Given the description of an element on the screen output the (x, y) to click on. 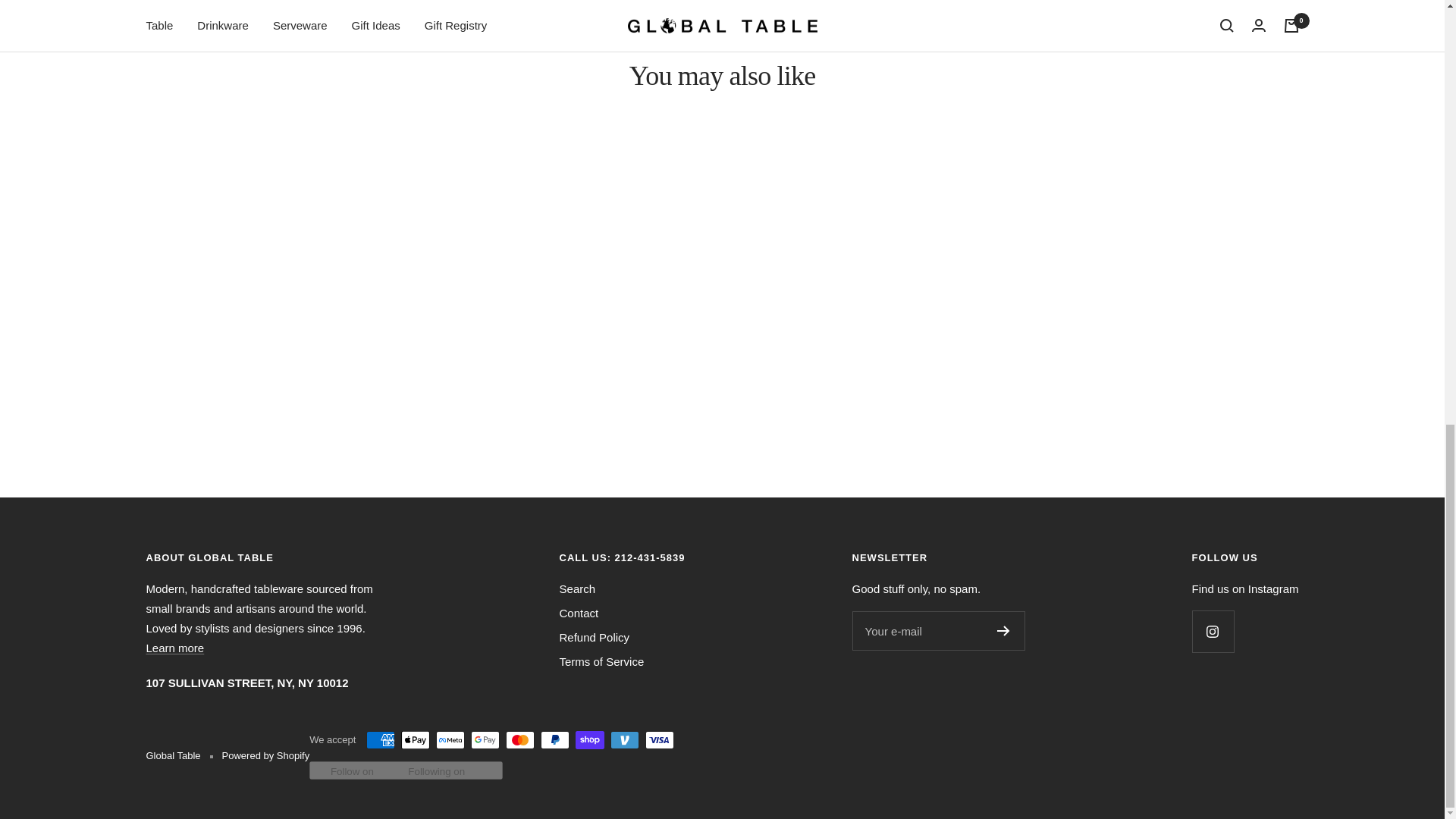
About Global Table (174, 647)
107 SULLIVAN STREET, NEW YORK, NY 10012 (246, 682)
Register (1003, 630)
